Given the description of an element on the screen output the (x, y) to click on. 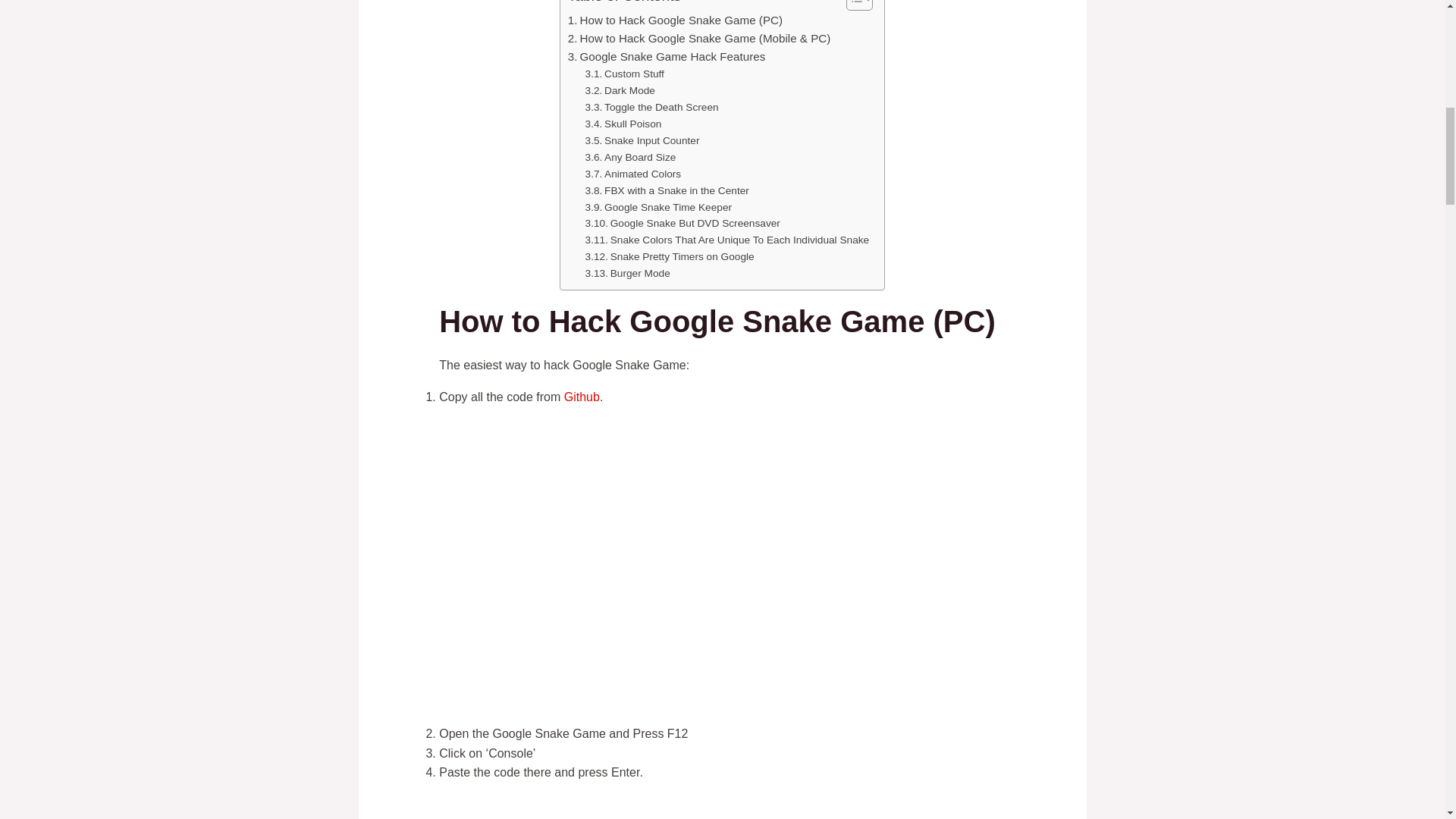
Custom Stuff (624, 74)
Google Snake But DVD Screensaver (682, 223)
Skull Poison (623, 124)
FBX with a Snake in the Center (667, 190)
Snake Colors That Are Unique To Each Individual Snake (727, 239)
Skull Poison (623, 124)
Google Snake Game Hack Features (666, 56)
Dark Mode (620, 90)
Any Board Size (631, 157)
Burger Mode (627, 273)
Custom Stuff (624, 74)
Dark Mode (620, 90)
Animated Colors (633, 174)
Google Snake Game Hack Features (666, 56)
